Given the description of an element on the screen output the (x, y) to click on. 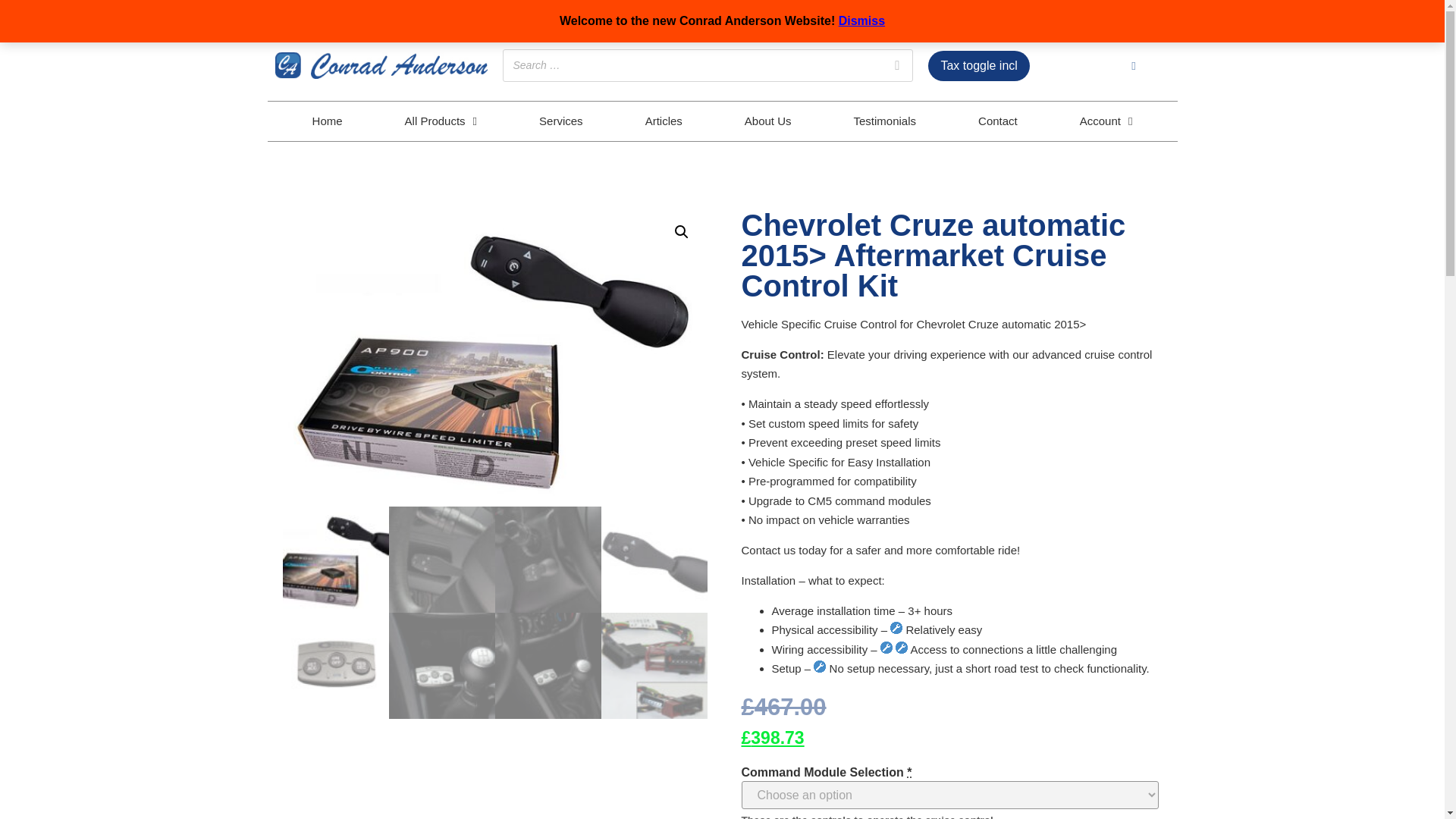
Services (561, 120)
Account (1105, 120)
All Products (441, 120)
AP900 Cruise Control System for Vehicles (494, 356)
Articles (663, 120)
Contact (997, 120)
Home (327, 120)
Testimonials (884, 120)
Tax toggle incl (978, 64)
0121 247 0619 (318, 15)
About Us (767, 120)
